Given the description of an element on the screen output the (x, y) to click on. 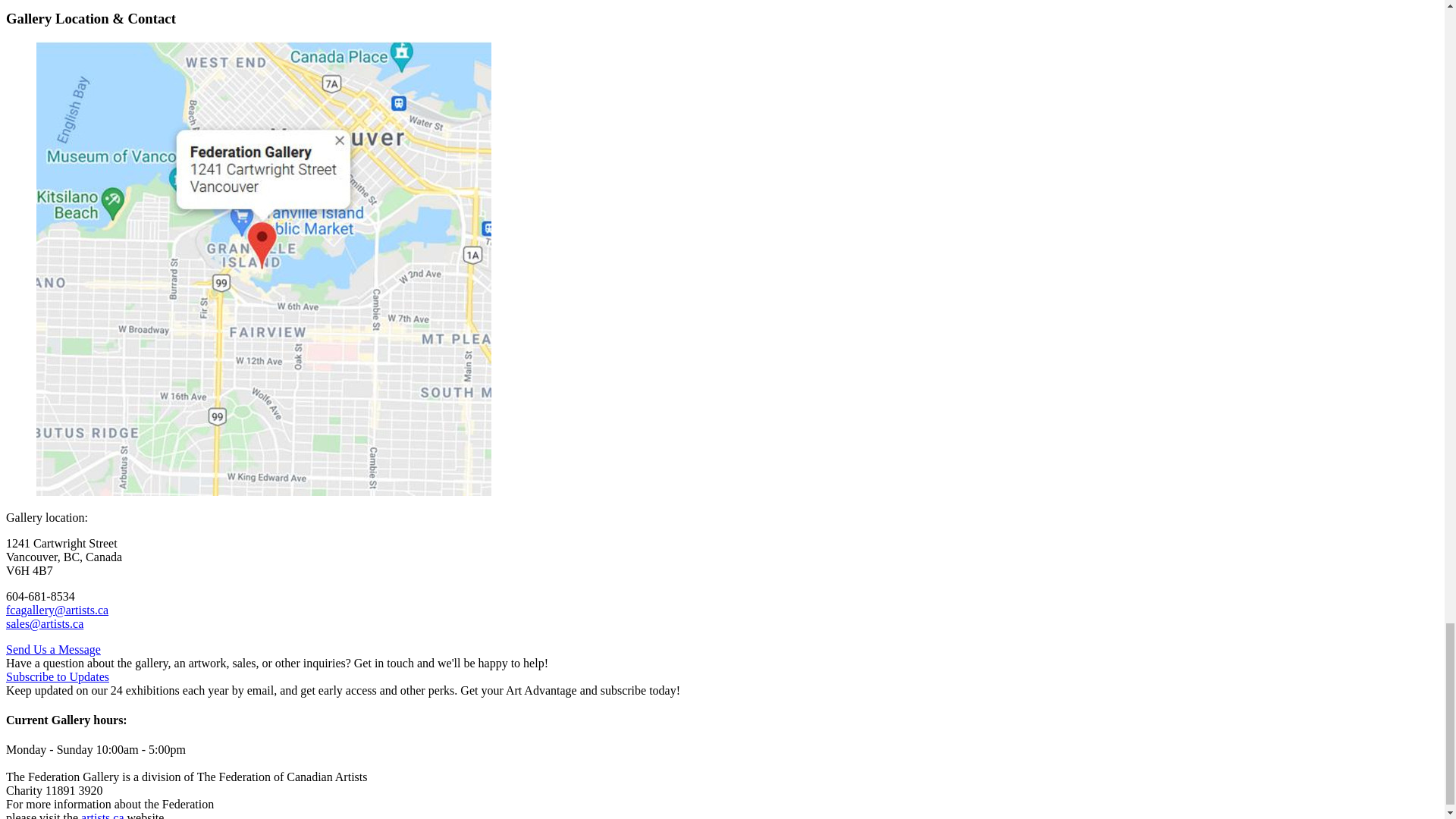
Send Us a Message (52, 649)
Subscribe to Updates (57, 676)
